Given the description of an element on the screen output the (x, y) to click on. 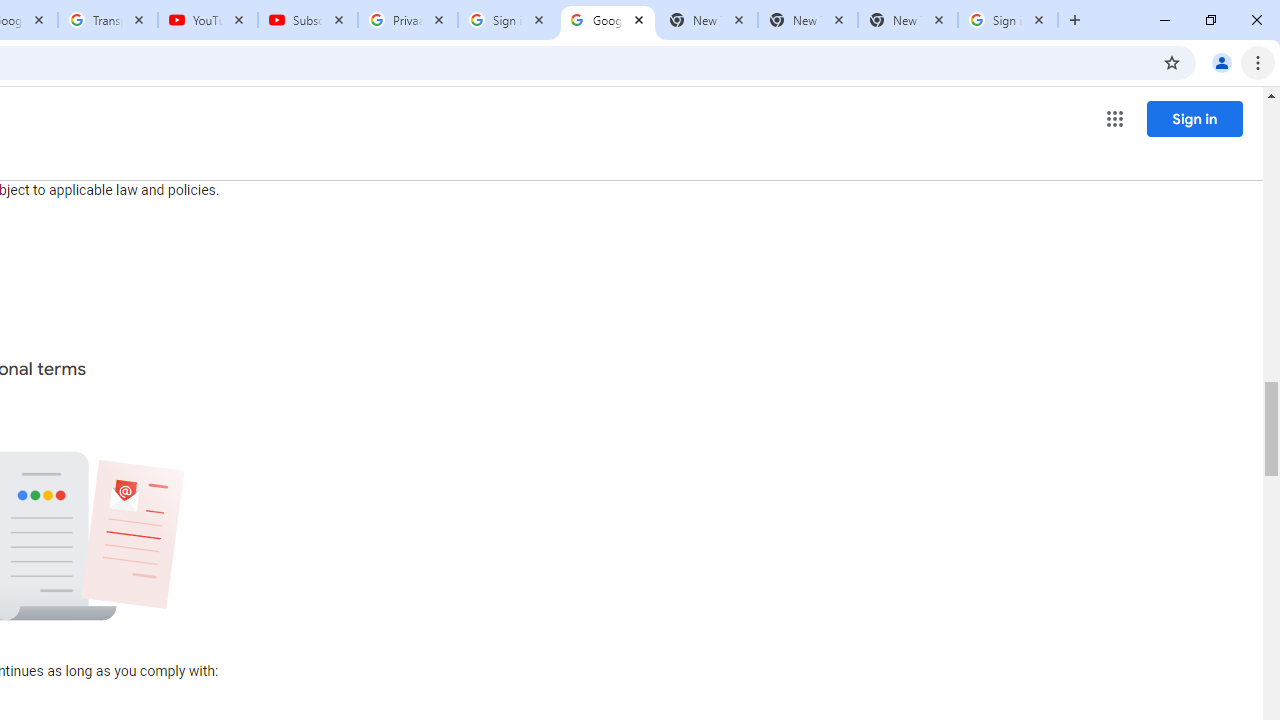
Subscriptions - YouTube (308, 20)
YouTube (207, 20)
Sign in - Google Accounts (508, 20)
Sign in - Google Accounts (1007, 20)
New Tab (907, 20)
